Given the description of an element on the screen output the (x, y) to click on. 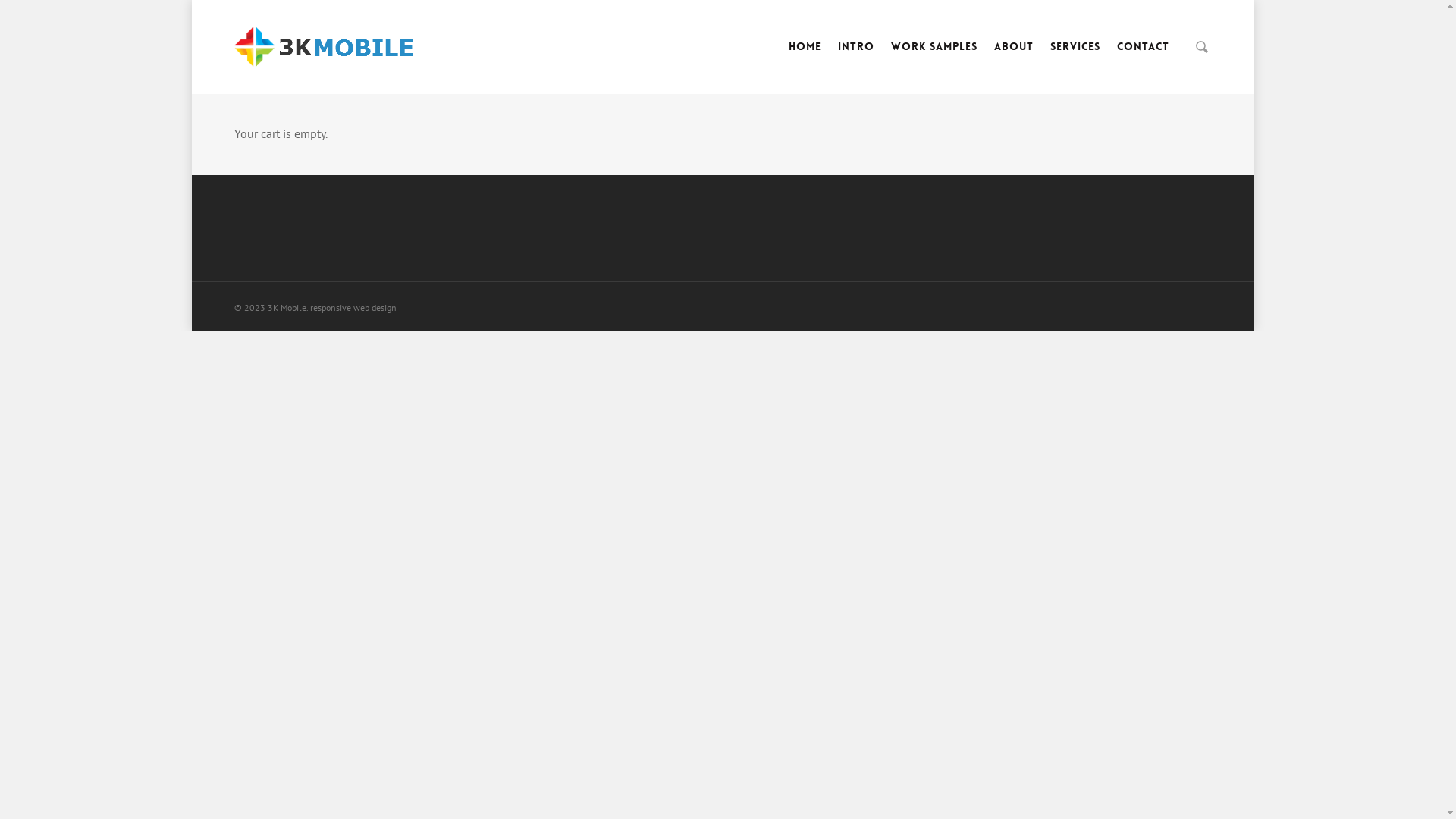
About Element type: text (1012, 57)
Intro Element type: text (855, 57)
Home Element type: text (804, 57)
Contact Element type: text (1142, 57)
Work Samples Element type: text (933, 57)
Services Element type: text (1074, 57)
